Given the description of an element on the screen output the (x, y) to click on. 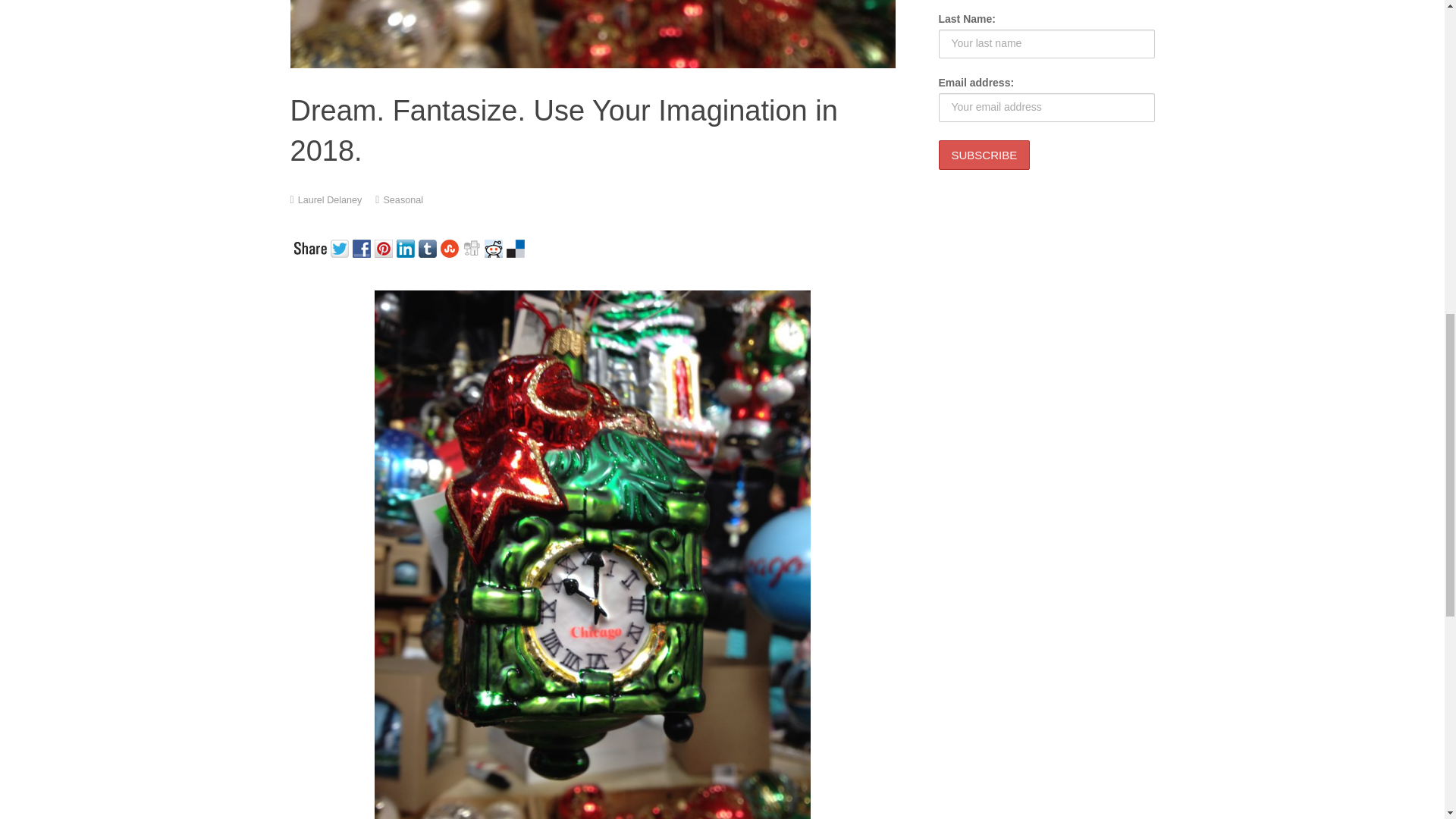
Delicious (517, 246)
Subscribe (984, 154)
Tumblr (430, 246)
StumbleUpon (450, 246)
Linkedin (406, 246)
Subscribe (984, 154)
Pinterest (385, 246)
Seasonal (402, 199)
Digg (473, 246)
Back to top (1413, 22)
Twitter (341, 246)
Reddit (494, 246)
Facebook (363, 246)
Laurel Delaney (330, 199)
